Given the description of an element on the screen output the (x, y) to click on. 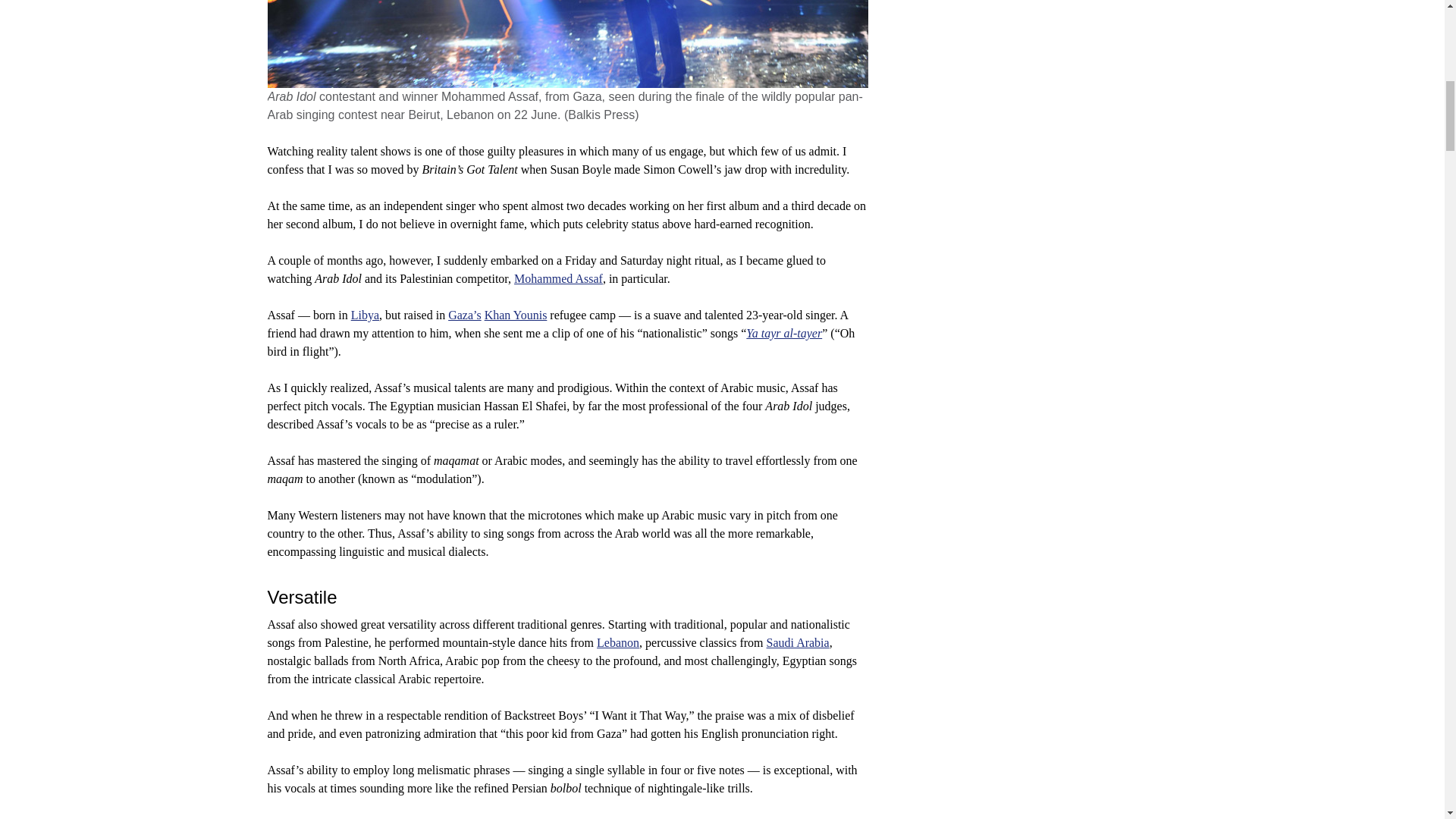
Khan Younis (515, 314)
Lebanon (617, 642)
Saudi Arabia (798, 642)
Mohammed Assaf (557, 278)
Libya (364, 314)
Ya tayr al-tayer (783, 332)
